Given the description of an element on the screen output the (x, y) to click on. 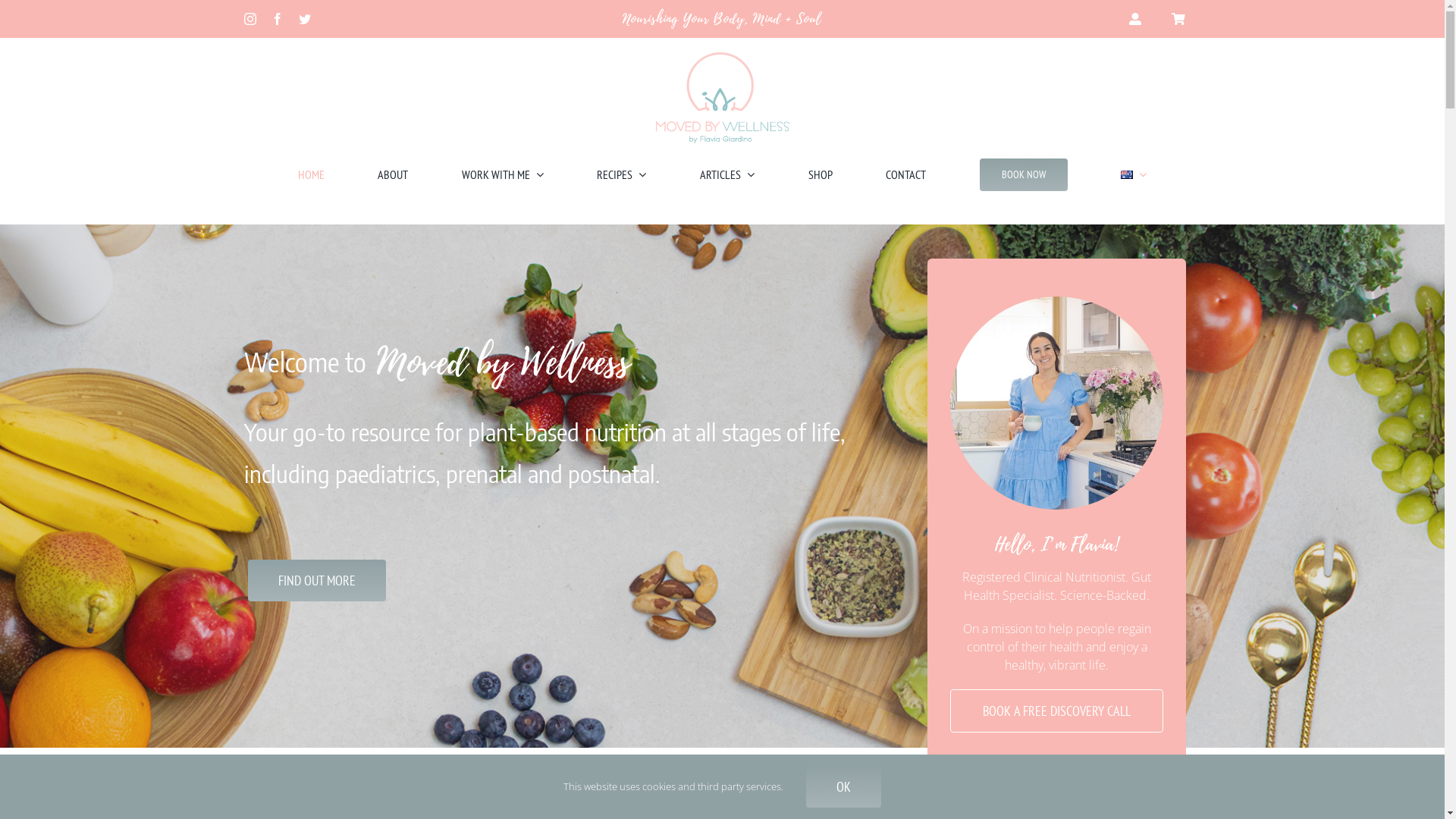
SHOP Element type: text (820, 174)
BOOK NOW Element type: text (1023, 174)
RECIPES Element type: text (621, 174)
BOOK A FREE DISCOVERY CALL Element type: text (1056, 710)
HOME Element type: text (311, 174)
ABOUT Element type: text (392, 174)
ARTICLES Element type: text (726, 174)
OK Element type: text (843, 786)
Facebook Element type: hover (277, 18)
Twitter Element type: hover (304, 18)
flavia-perfil Element type: hover (1056, 402)
WORK WITH ME Element type: text (502, 174)
Instagram Element type: hover (250, 18)
CONTACT Element type: text (905, 174)
FIND OUT MORE Element type: text (316, 580)
Log In Element type: text (1085, 202)
